Given the description of an element on the screen output the (x, y) to click on. 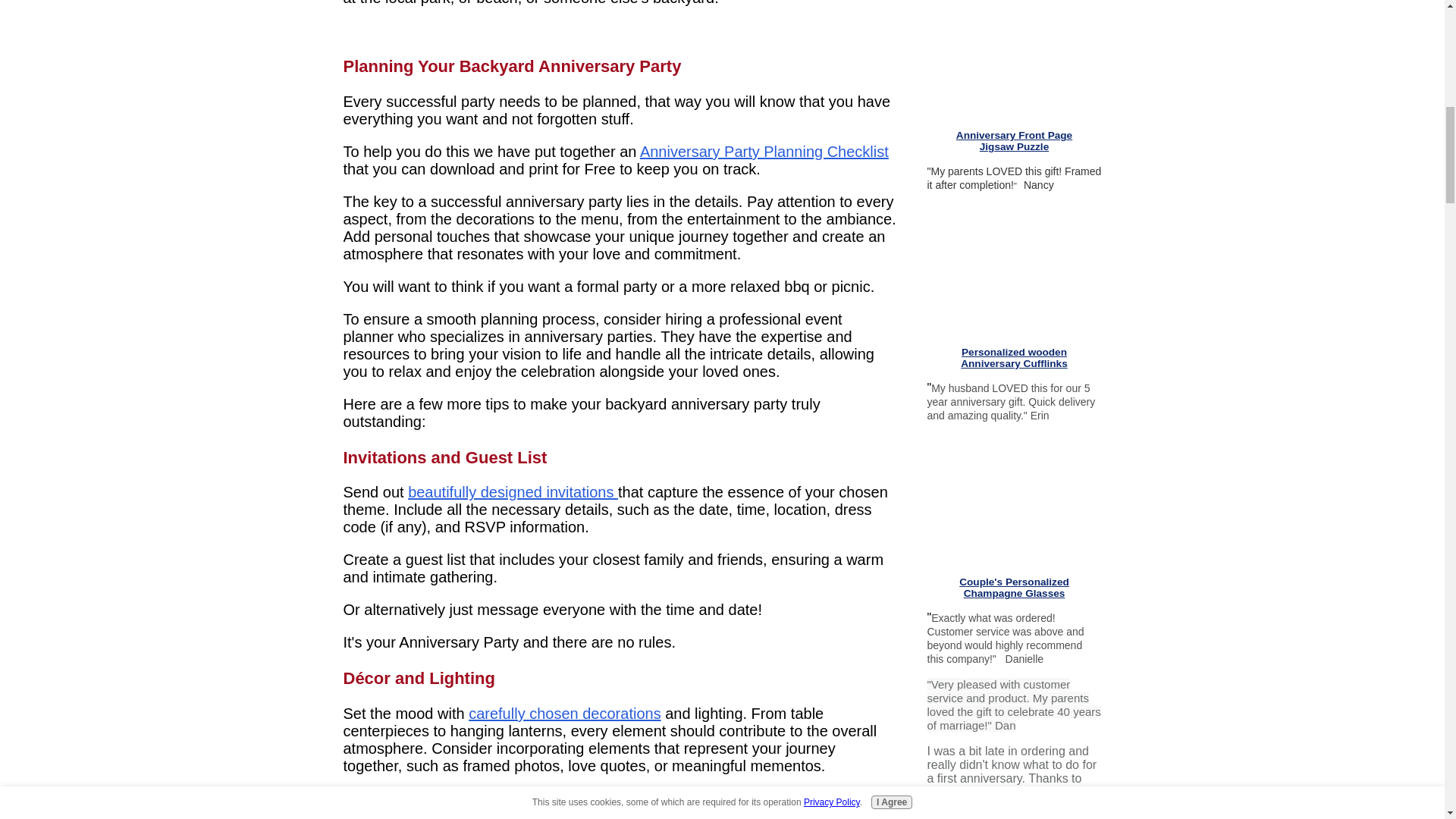
personalized wooden cufflinks (1013, 273)
Anniversary Jigsaw Puzzle (1014, 63)
Couple's personalized Champagne glasses (1014, 503)
